Given the description of an element on the screen output the (x, y) to click on. 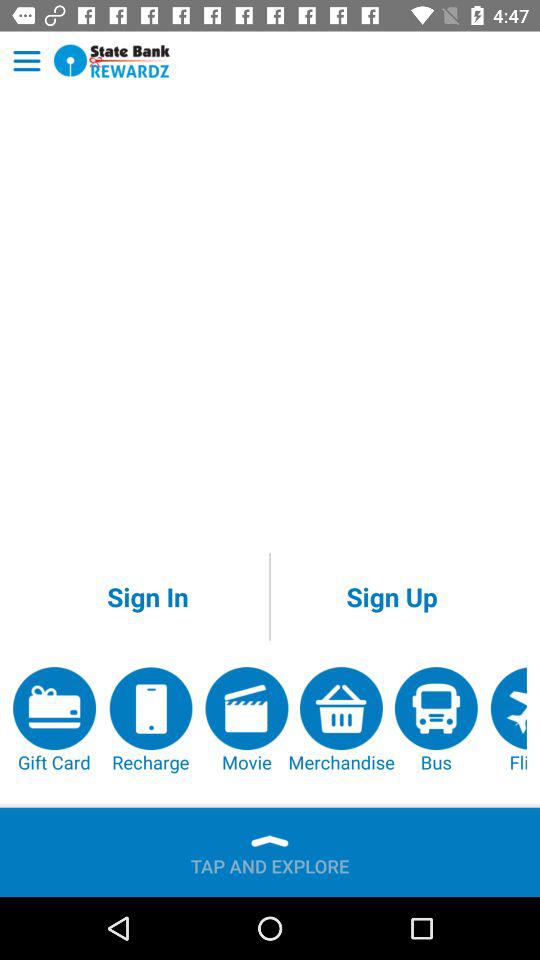
state bank logo (112, 60)
